Given the description of an element on the screen output the (x, y) to click on. 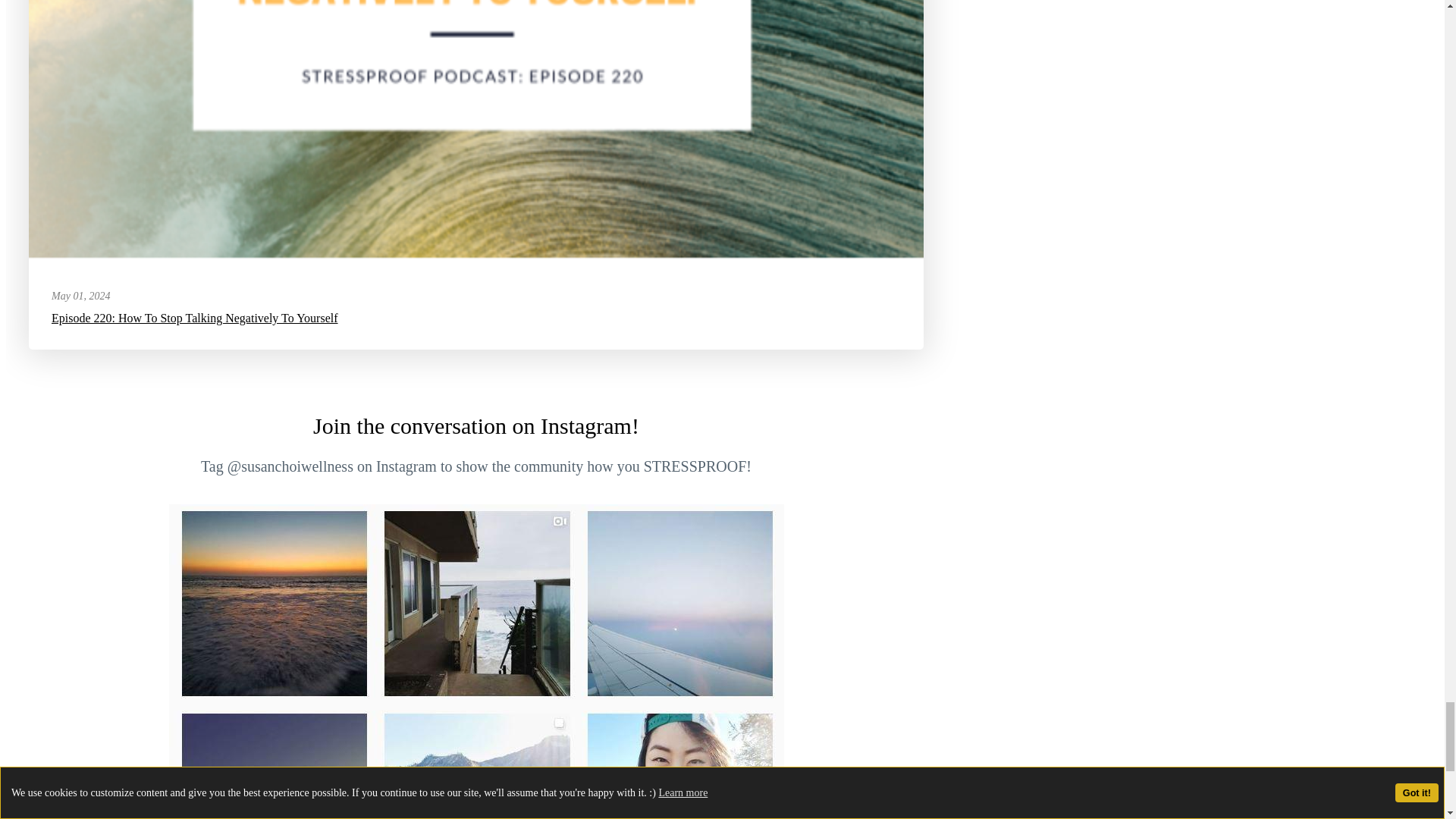
Episode 220: How To Stop Talking Negatively To Yourself (193, 318)
